Given the description of an element on the screen output the (x, y) to click on. 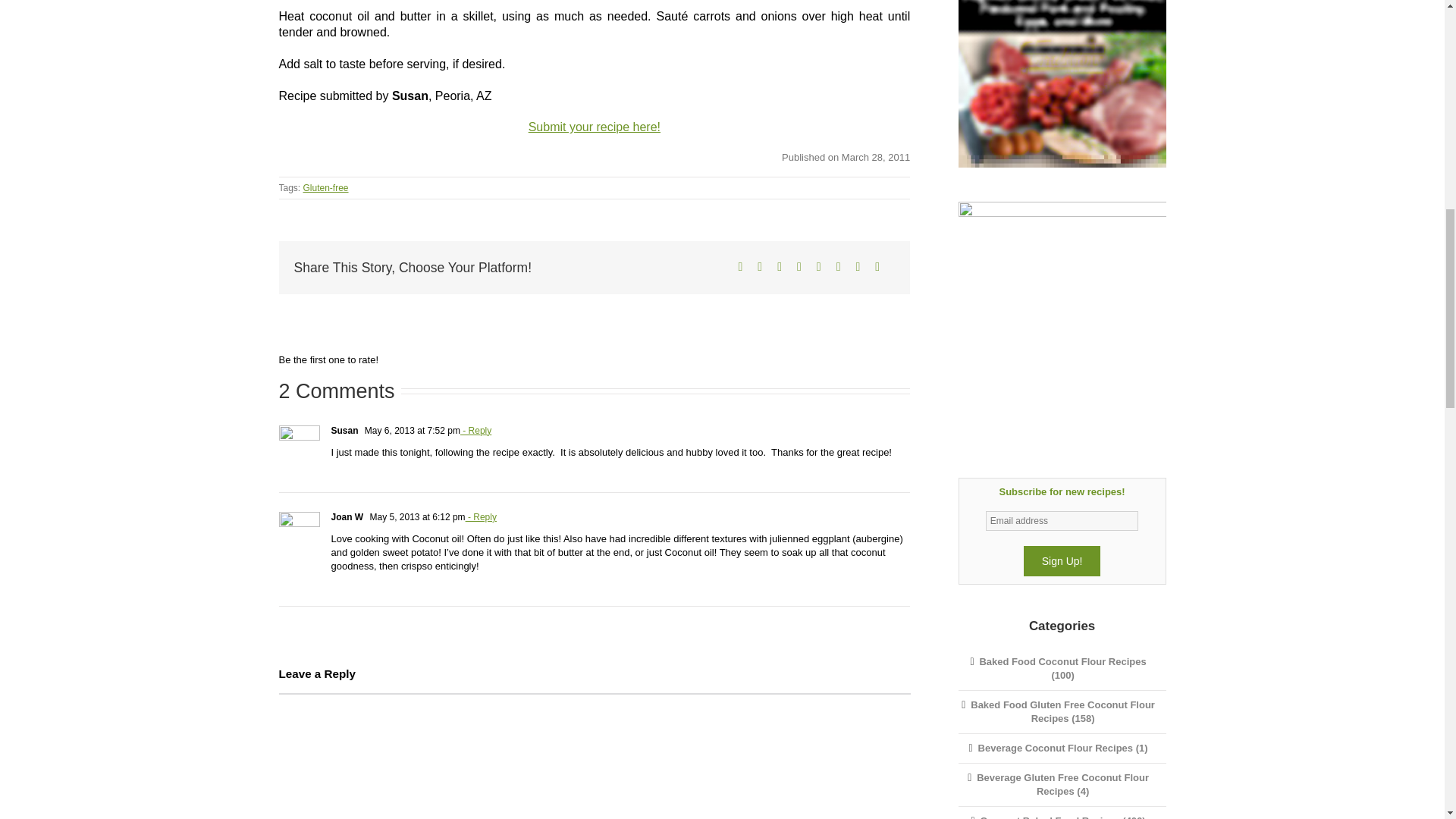
Email address (1061, 520)
Comment Form (595, 755)
Sign Up! (1061, 561)
